Given the description of an element on the screen output the (x, y) to click on. 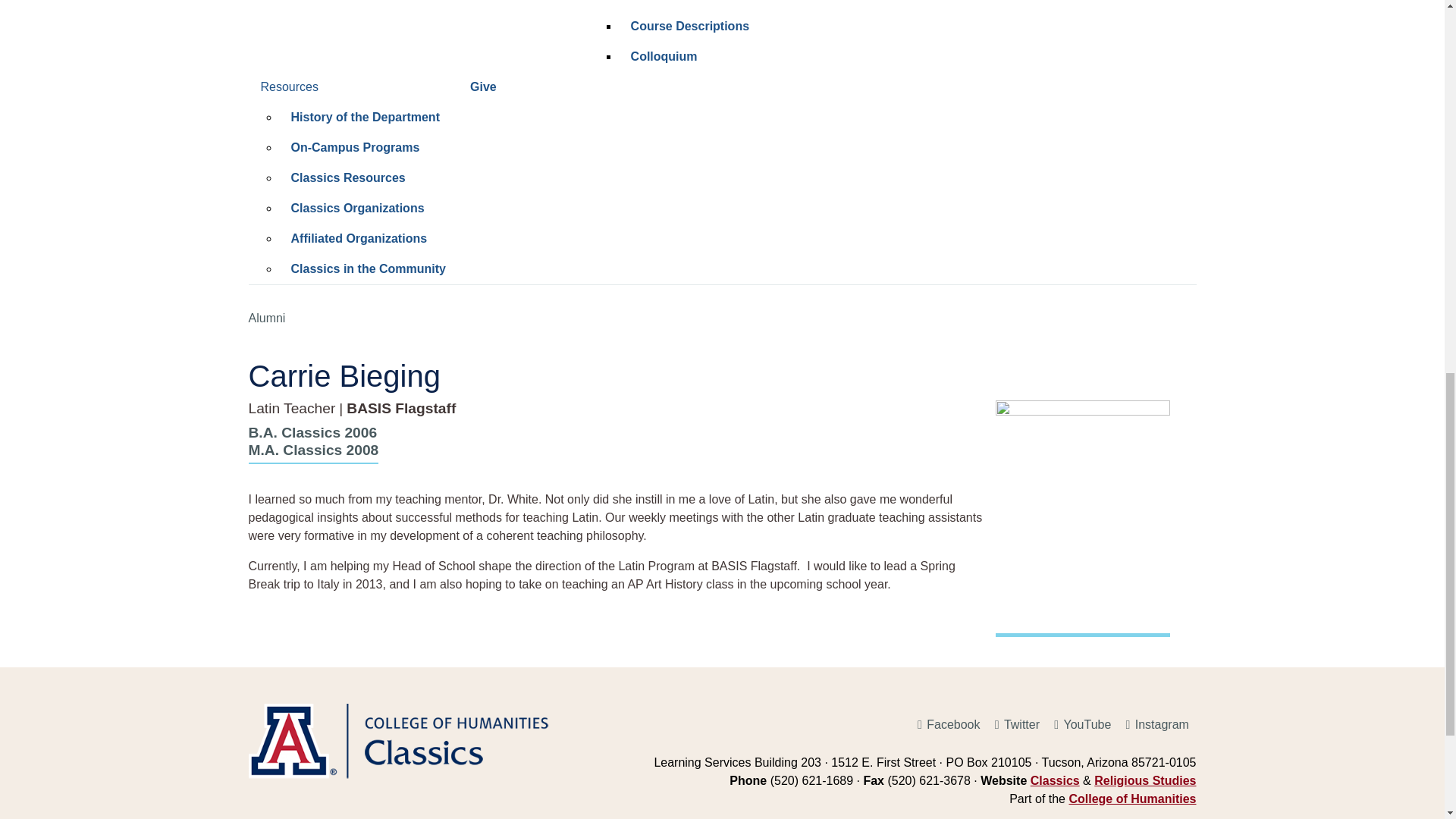
Course Descriptions (759, 26)
Course Schedule (759, 5)
Colloquium (759, 56)
